Given the description of an element on the screen output the (x, y) to click on. 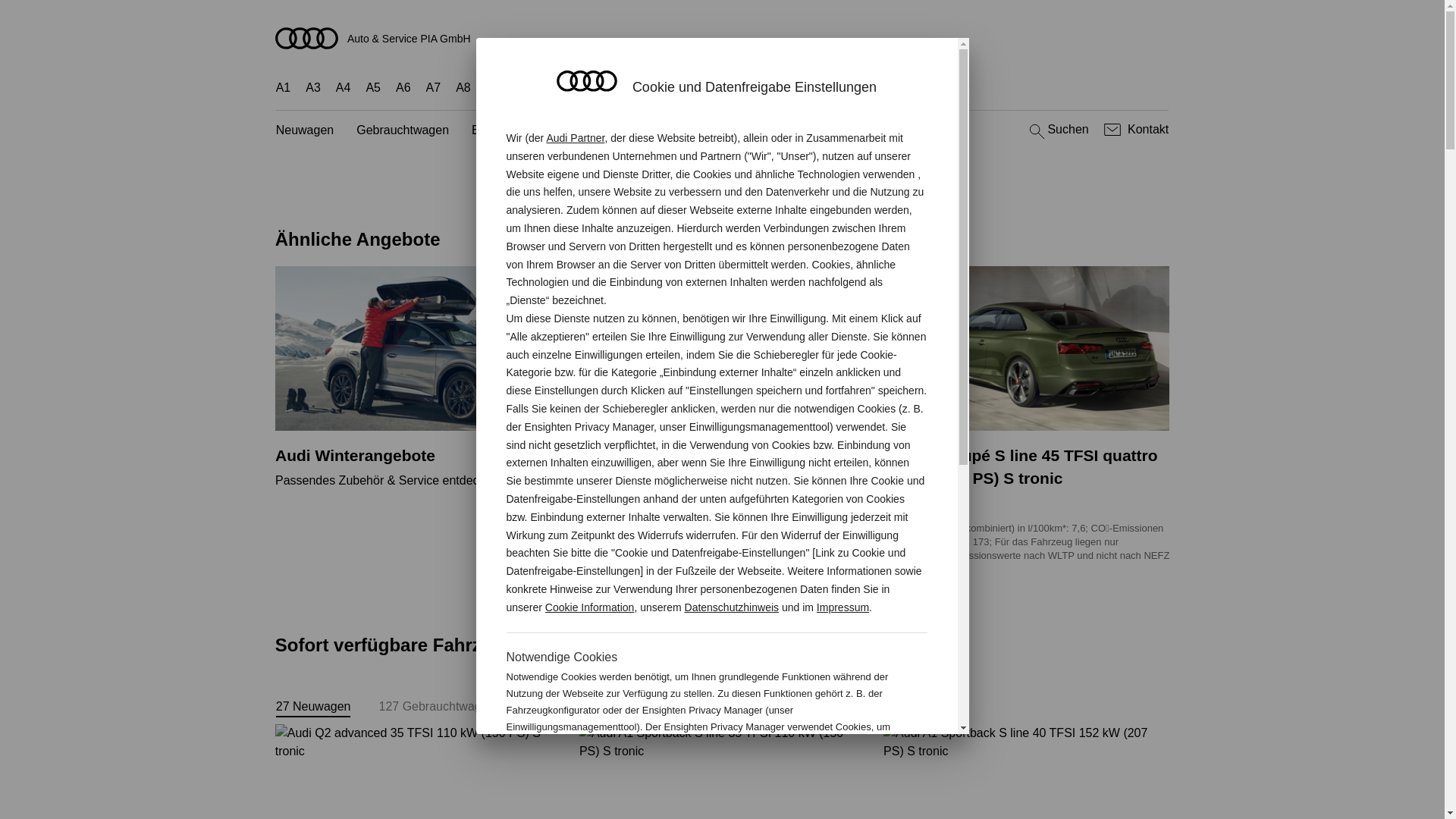
Cookie Information Element type: text (589, 607)
Q7 Element type: text (654, 87)
Q3 Element type: text (525, 87)
A4 Element type: text (343, 87)
A3 Element type: text (312, 87)
e-tron GT Element type: text (924, 87)
A5 Element type: text (372, 87)
Q4 e-tron Element type: text (573, 87)
A7 Element type: text (433, 87)
Impressum Element type: text (842, 607)
Q5 Element type: text (622, 87)
RS Element type: text (828, 87)
Q8 e-tron Element type: text (734, 87)
A8 Element type: text (462, 87)
127 Gebrauchtwagen Element type: text (436, 707)
Kontakt Element type: text (1134, 129)
Suchen Element type: text (1056, 129)
Audi Partner Element type: text (575, 137)
g-tron Element type: text (868, 87)
27 Neuwagen Element type: text (313, 707)
TT Element type: text (782, 87)
A6 Element type: text (403, 87)
Neuwagen Element type: text (305, 130)
Auto & Service PIA GmbH Element type: text (722, 38)
Cookie Information Element type: text (847, 776)
Kundenservice Element type: text (692, 130)
Q8 Element type: text (685, 87)
Angebote Element type: text (603, 130)
Gebrauchtwagen Element type: text (402, 130)
Datenschutzhinweis Element type: text (731, 607)
Q2 Element type: text (494, 87)
A1 Element type: text (283, 87)
